Given the description of an element on the screen output the (x, y) to click on. 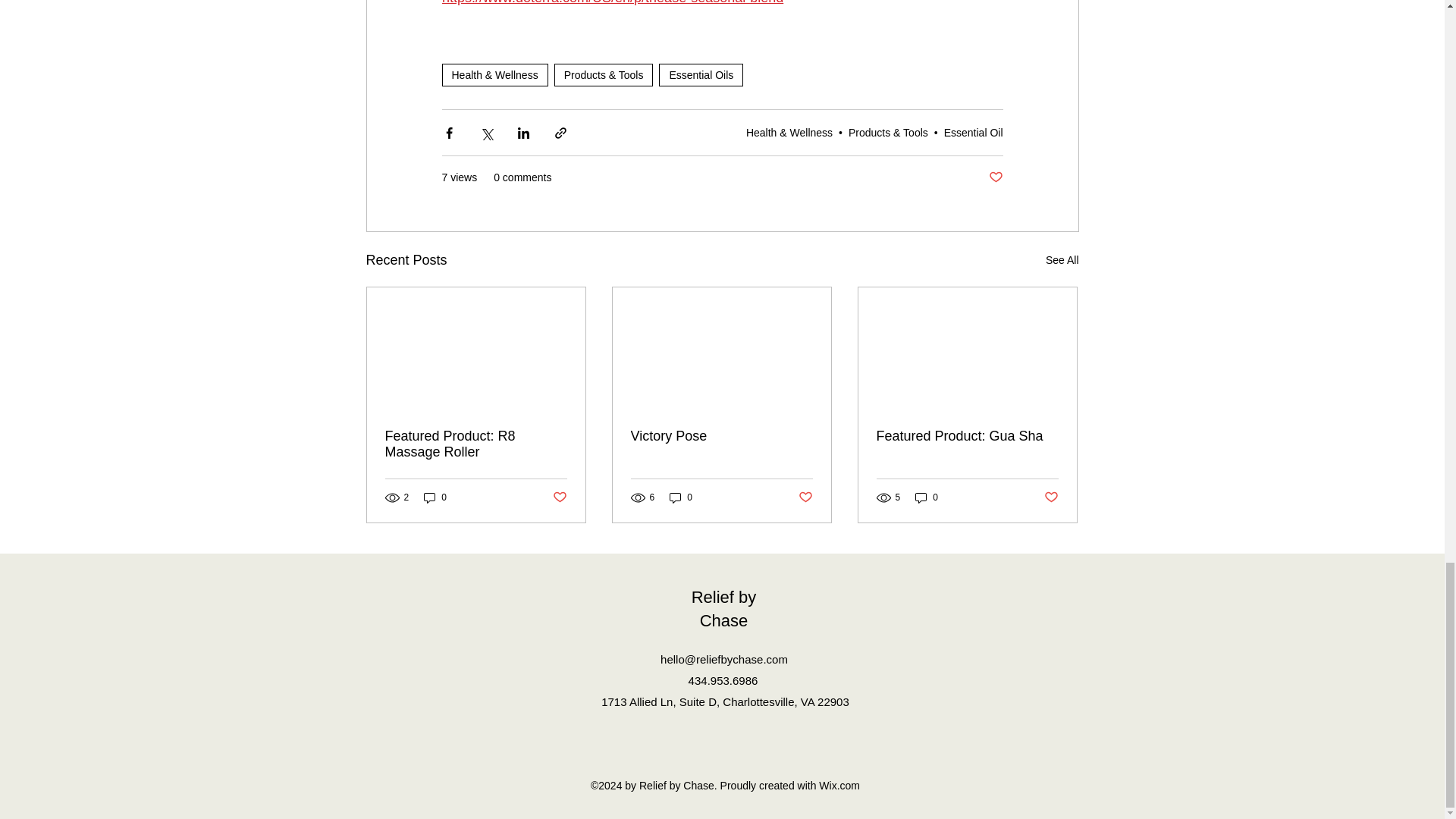
See All (1061, 260)
Essential Oil (973, 132)
Essential Oils (700, 74)
Post not marked as liked (995, 177)
